Given the description of an element on the screen output the (x, y) to click on. 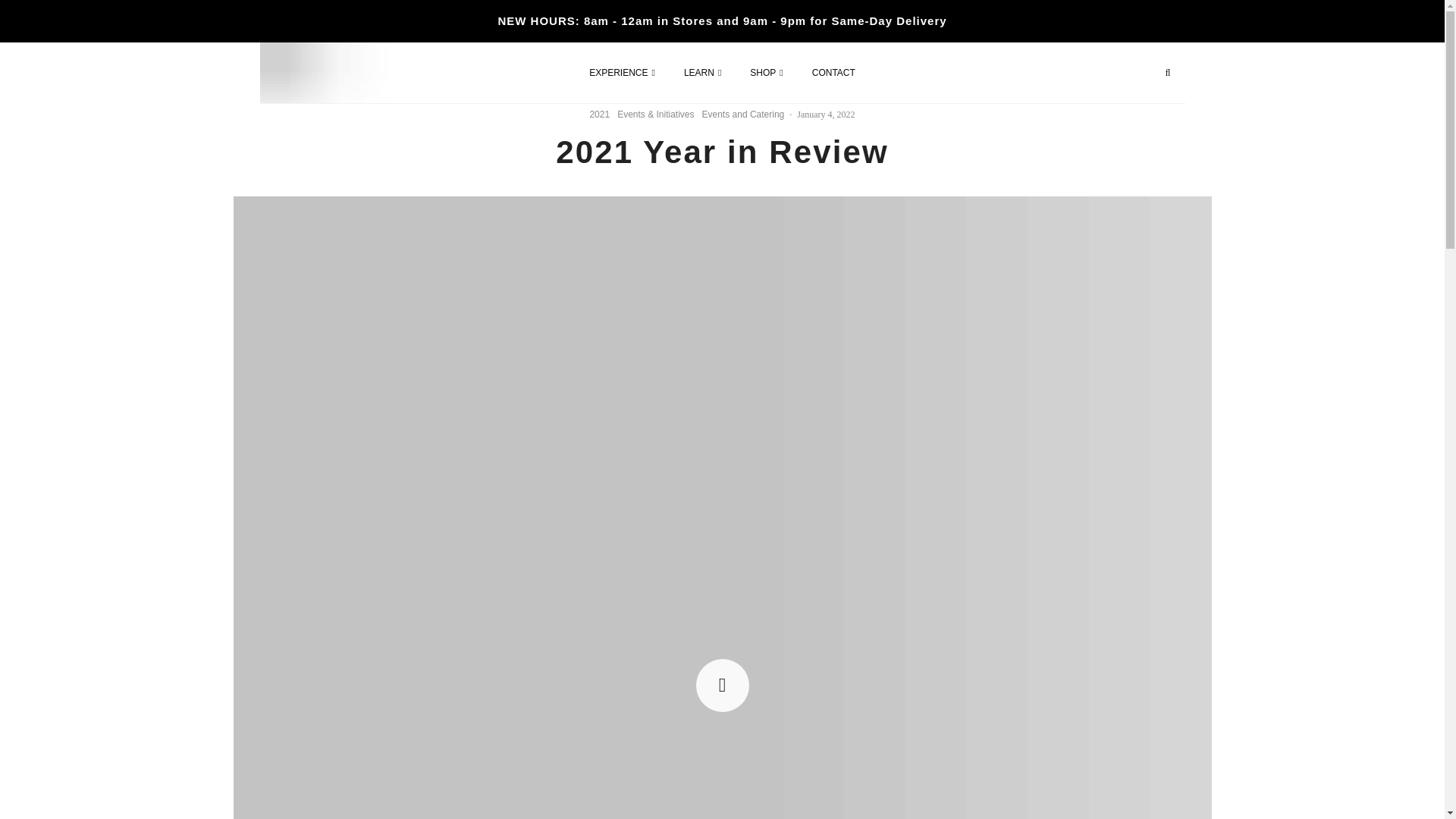
LEARN (702, 72)
SHOP (765, 72)
SHOP NOW (1055, 69)
EXPERIENCE (622, 72)
